Given the description of an element on the screen output the (x, y) to click on. 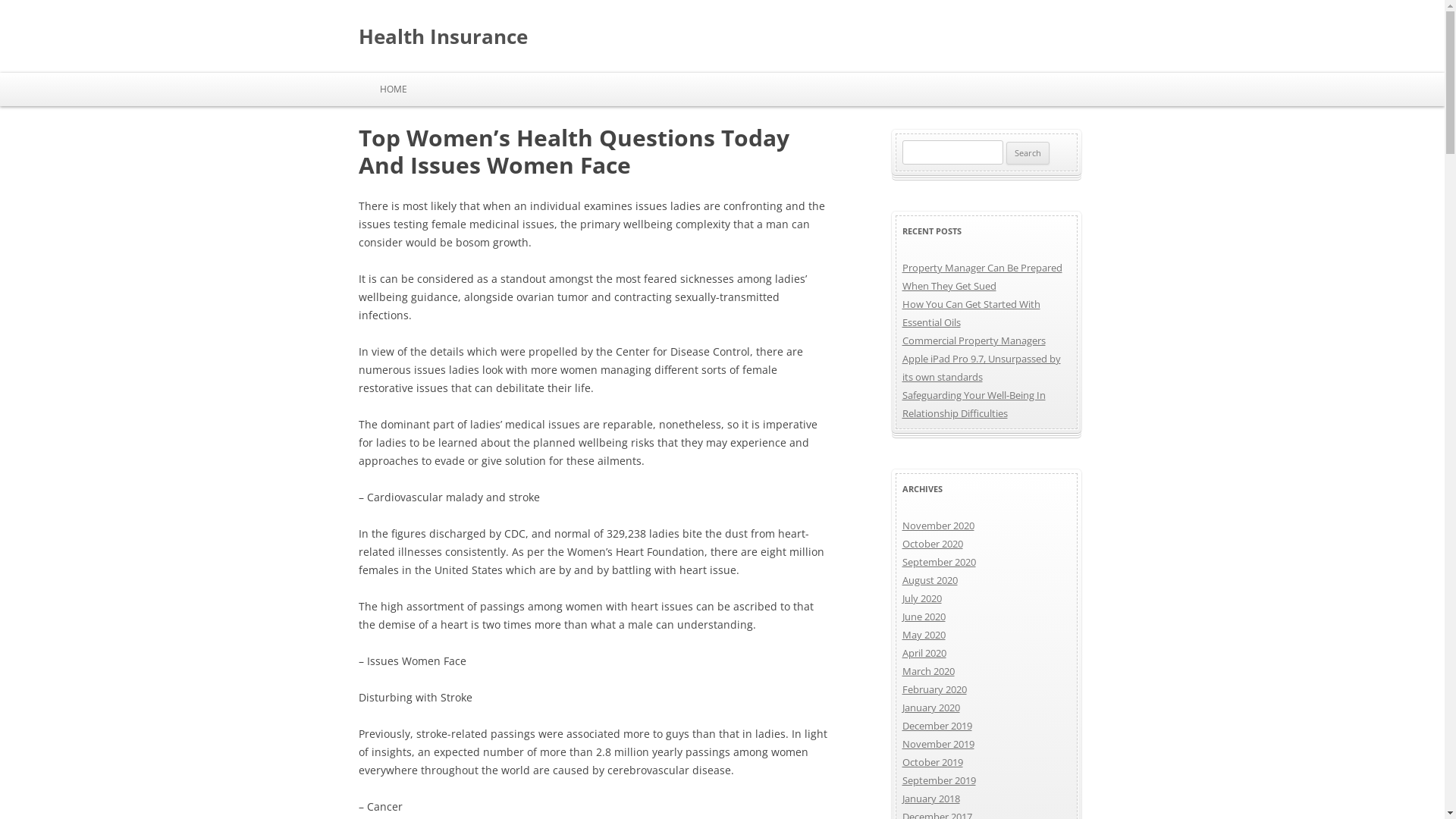
Property Manager Can Be Prepared When They Get Sued Element type: text (982, 276)
August 2020 Element type: text (929, 579)
September 2020 Element type: text (938, 561)
HOME Element type: text (392, 89)
May 2020 Element type: text (923, 634)
March 2020 Element type: text (928, 670)
April 2020 Element type: text (924, 652)
Apple iPad Pro 9.7, Unsurpassed by its own standards Element type: text (981, 367)
Health Insurance Element type: text (442, 36)
September 2019 Element type: text (938, 780)
February 2020 Element type: text (934, 689)
July 2020 Element type: text (921, 598)
How You Can Get Started With Essential Oils Element type: text (971, 313)
Safeguarding Your Well-Being In Relationship Difficulties Element type: text (973, 404)
June 2020 Element type: text (923, 616)
November 2019 Element type: text (938, 743)
October 2020 Element type: text (932, 543)
Skip to content Element type: text (759, 77)
January 2020 Element type: text (931, 707)
Search Element type: text (1027, 152)
January 2018 Element type: text (931, 798)
Commercial Property Managers Element type: text (973, 340)
November 2020 Element type: text (938, 525)
December 2019 Element type: text (937, 725)
October 2019 Element type: text (932, 761)
